Given the description of an element on the screen output the (x, y) to click on. 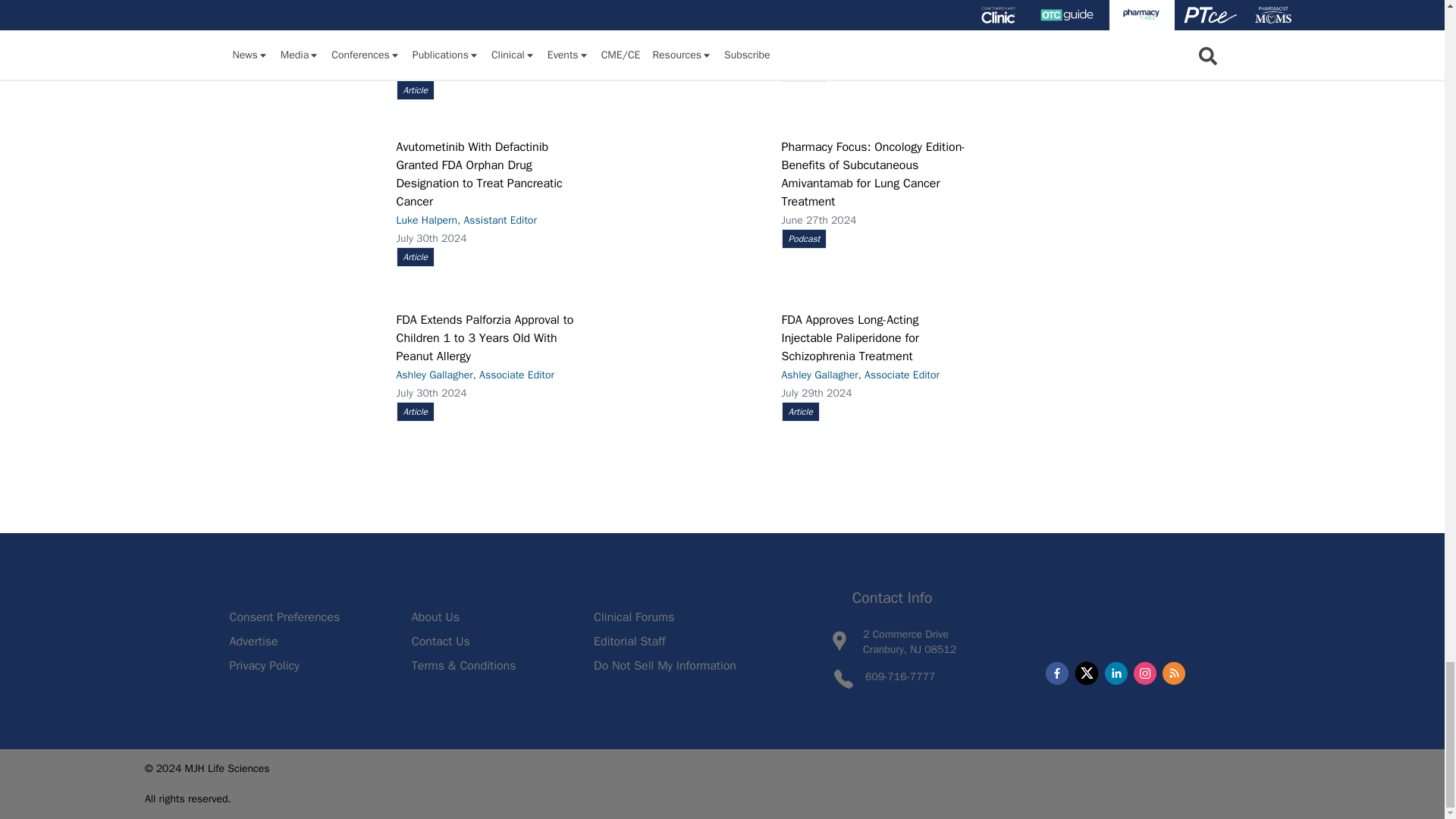
The word diabetes on a report next to a syringe. (304, 28)
